Given the description of an element on the screen output the (x, y) to click on. 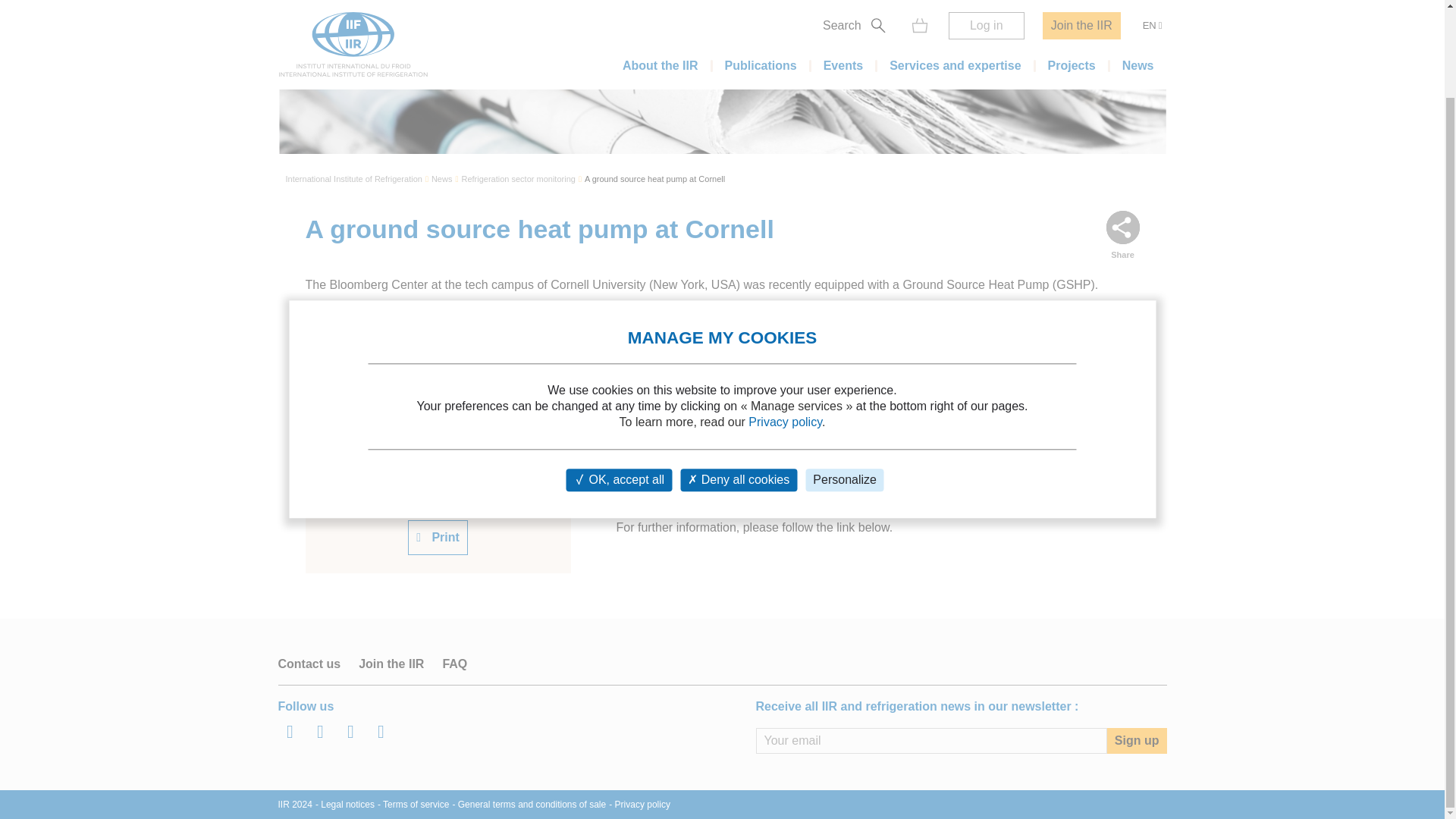
Sign up (1136, 740)
International Institute of Refrigeration (353, 179)
